Given the description of an element on the screen output the (x, y) to click on. 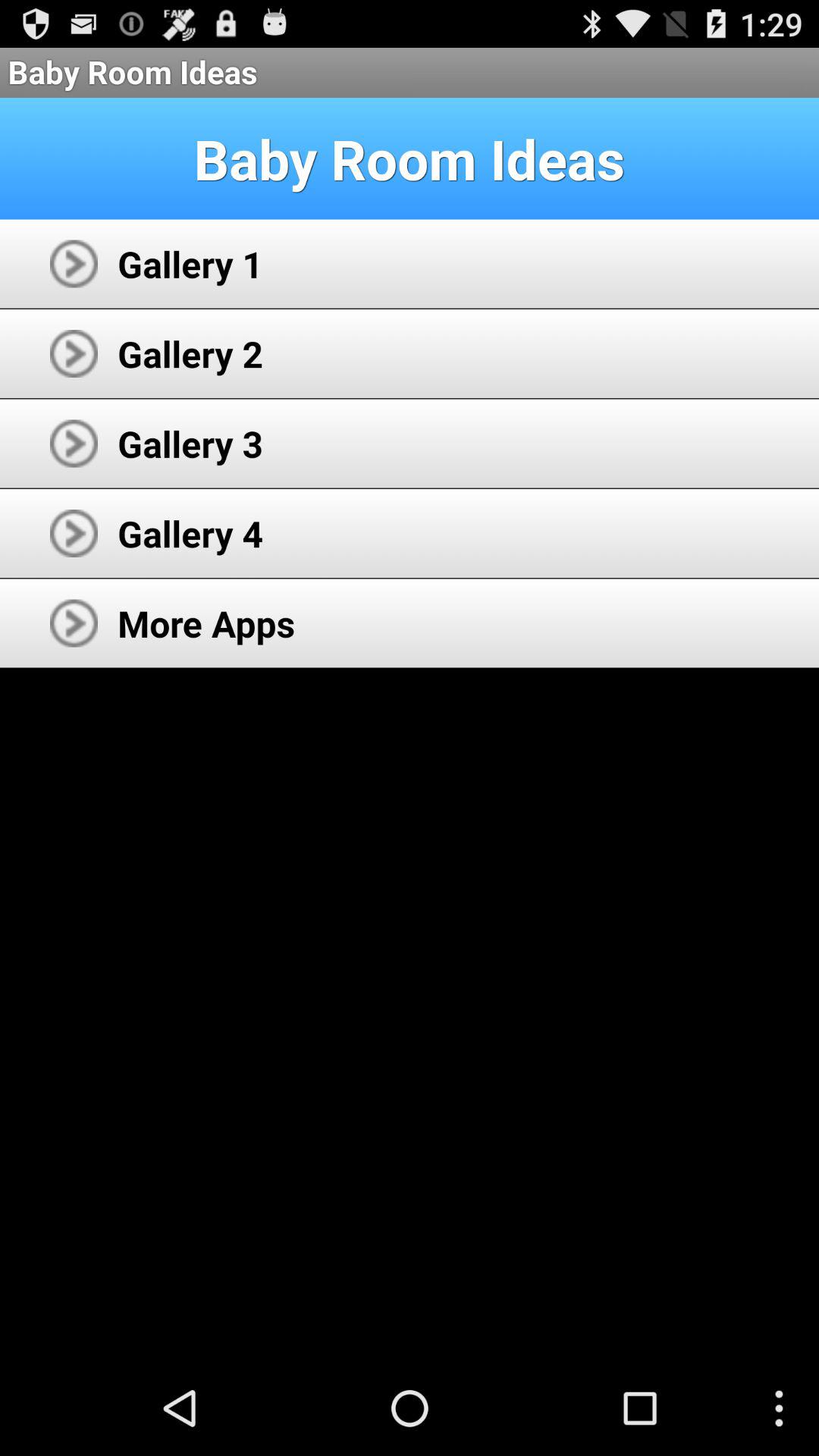
tap the app above gallery 3 icon (190, 353)
